Given the description of an element on the screen output the (x, y) to click on. 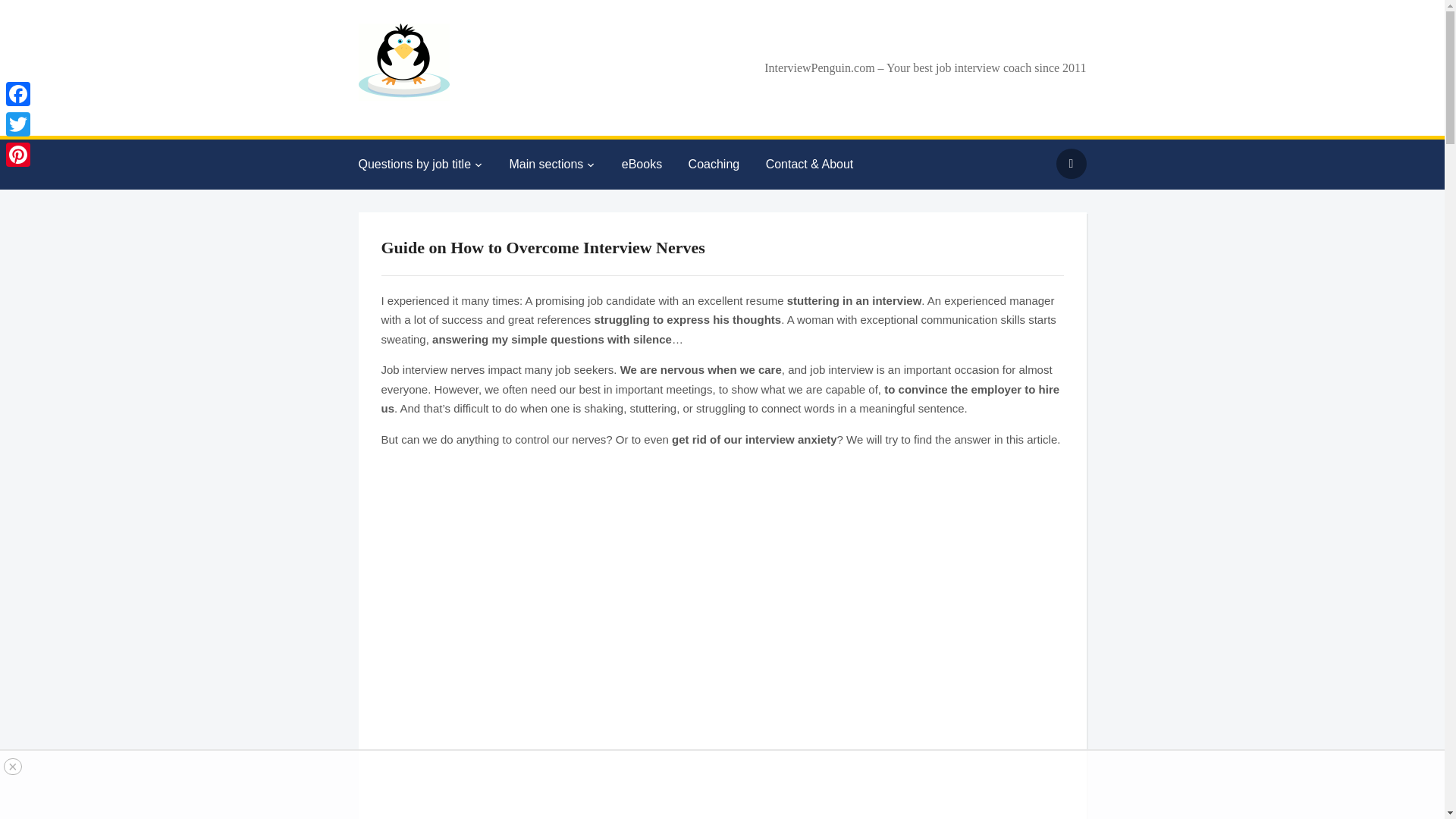
Pinterest (17, 154)
Facebook (17, 93)
Twitter (17, 123)
